Given the description of an element on the screen output the (x, y) to click on. 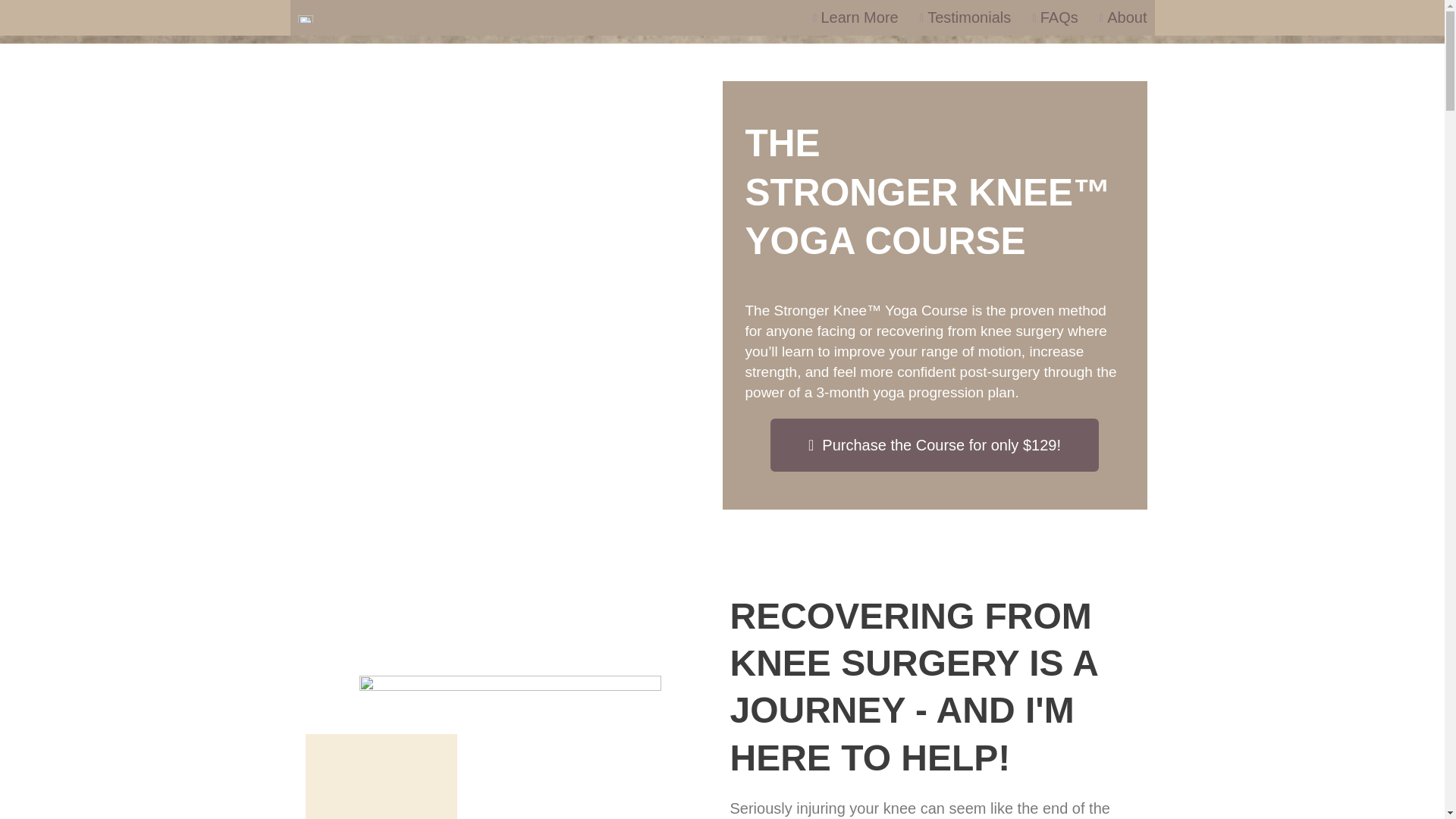
FAQs (1050, 17)
Learn More (850, 17)
Testimonials (961, 17)
About (1118, 17)
